Given the description of an element on the screen output the (x, y) to click on. 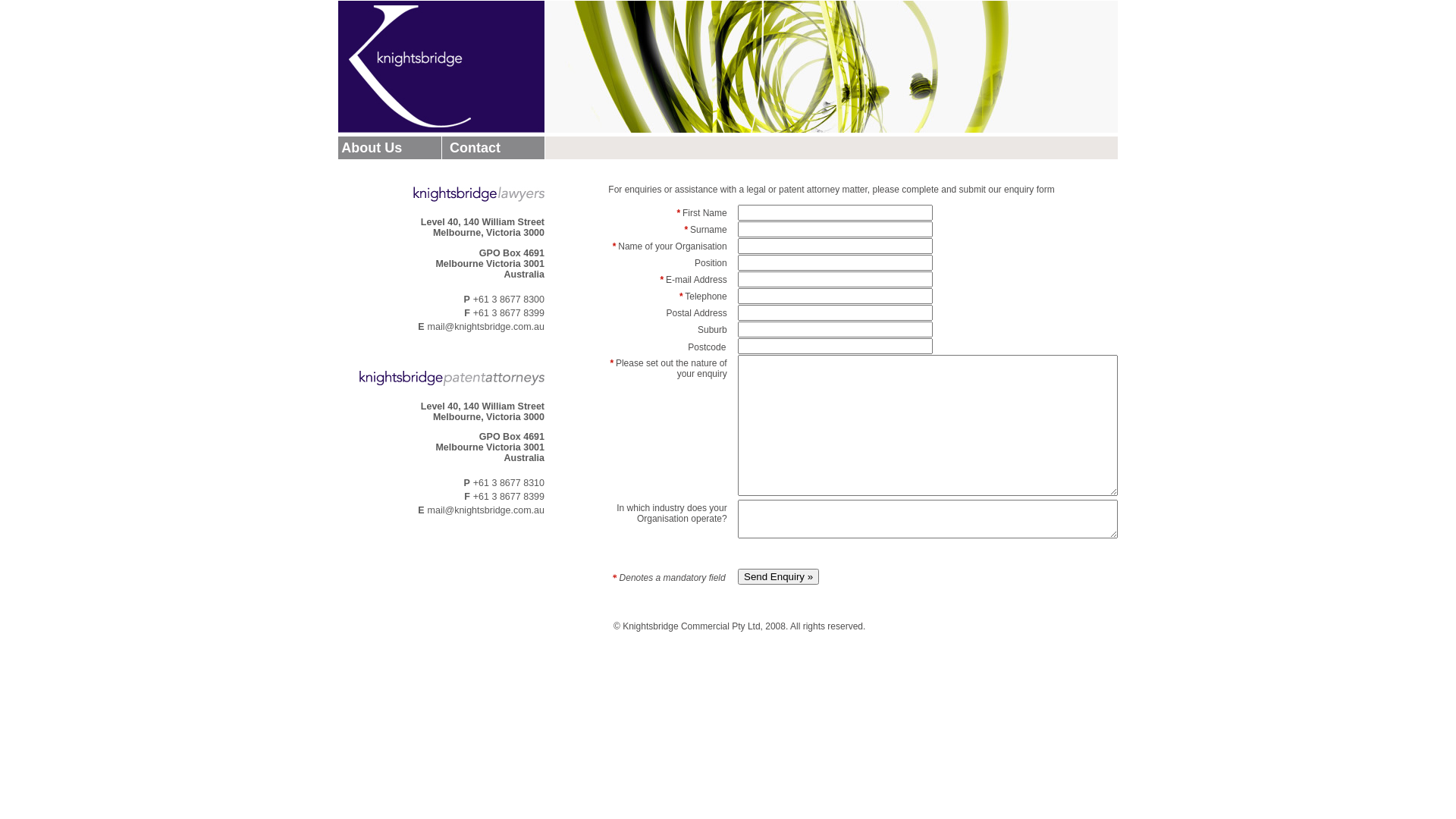
Surname Element type: hover (834, 229)
Postal Address Element type: hover (834, 346)
Nature of your enquiry Element type: hover (927, 424)
Telephone Element type: hover (834, 296)
Organisation Industry Element type: hover (927, 518)
 About Us Element type: text (369, 146)
First Name Element type: hover (834, 212)
Postal Address Element type: hover (834, 312)
Position Element type: hover (834, 262)
Postal Address Element type: hover (834, 329)
Name of your Organisation Element type: hover (834, 246)
E-mail Address Element type: hover (834, 279)
